Given the description of an element on the screen output the (x, y) to click on. 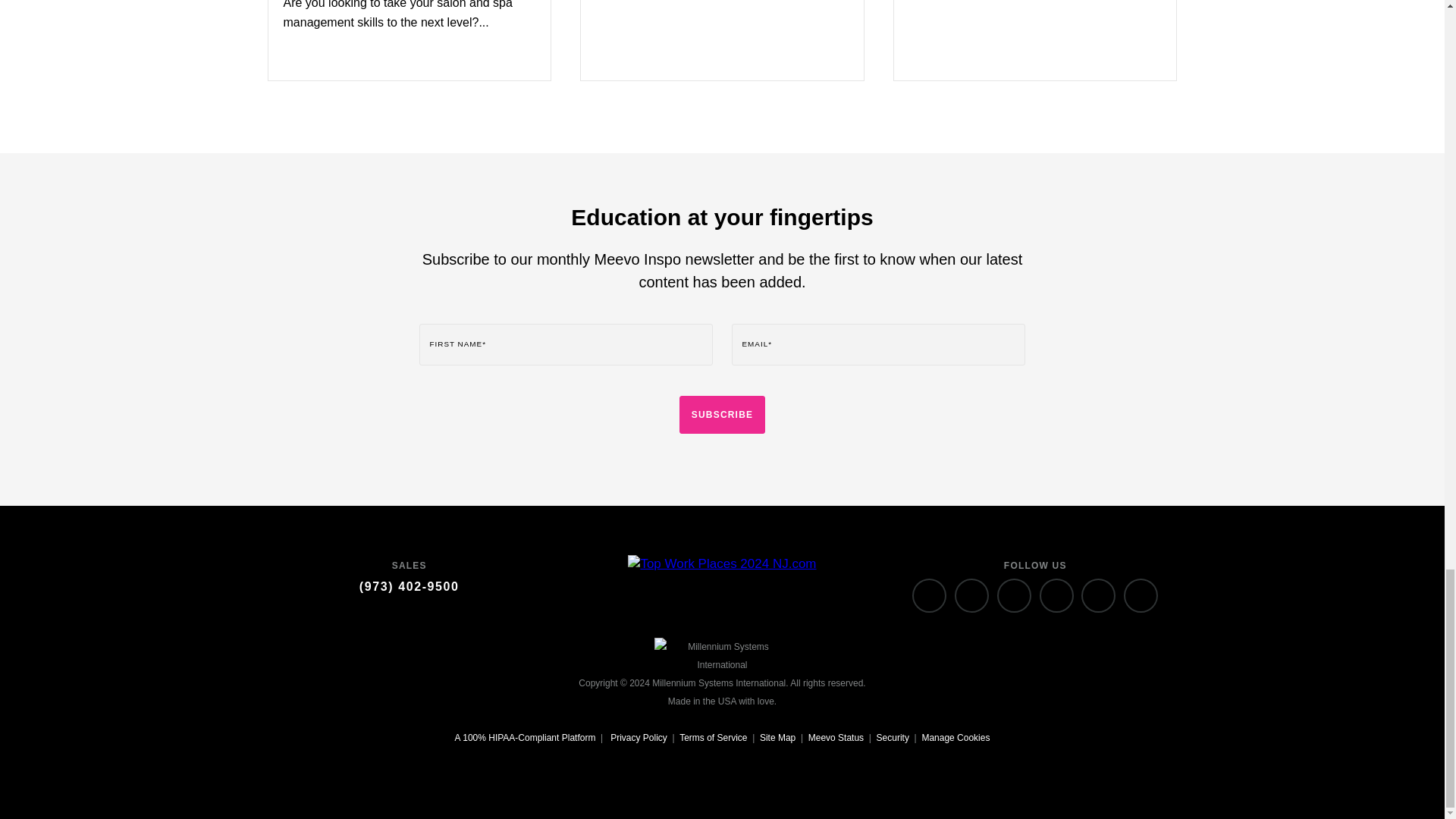
Subscribe (722, 414)
